Given the description of an element on the screen output the (x, y) to click on. 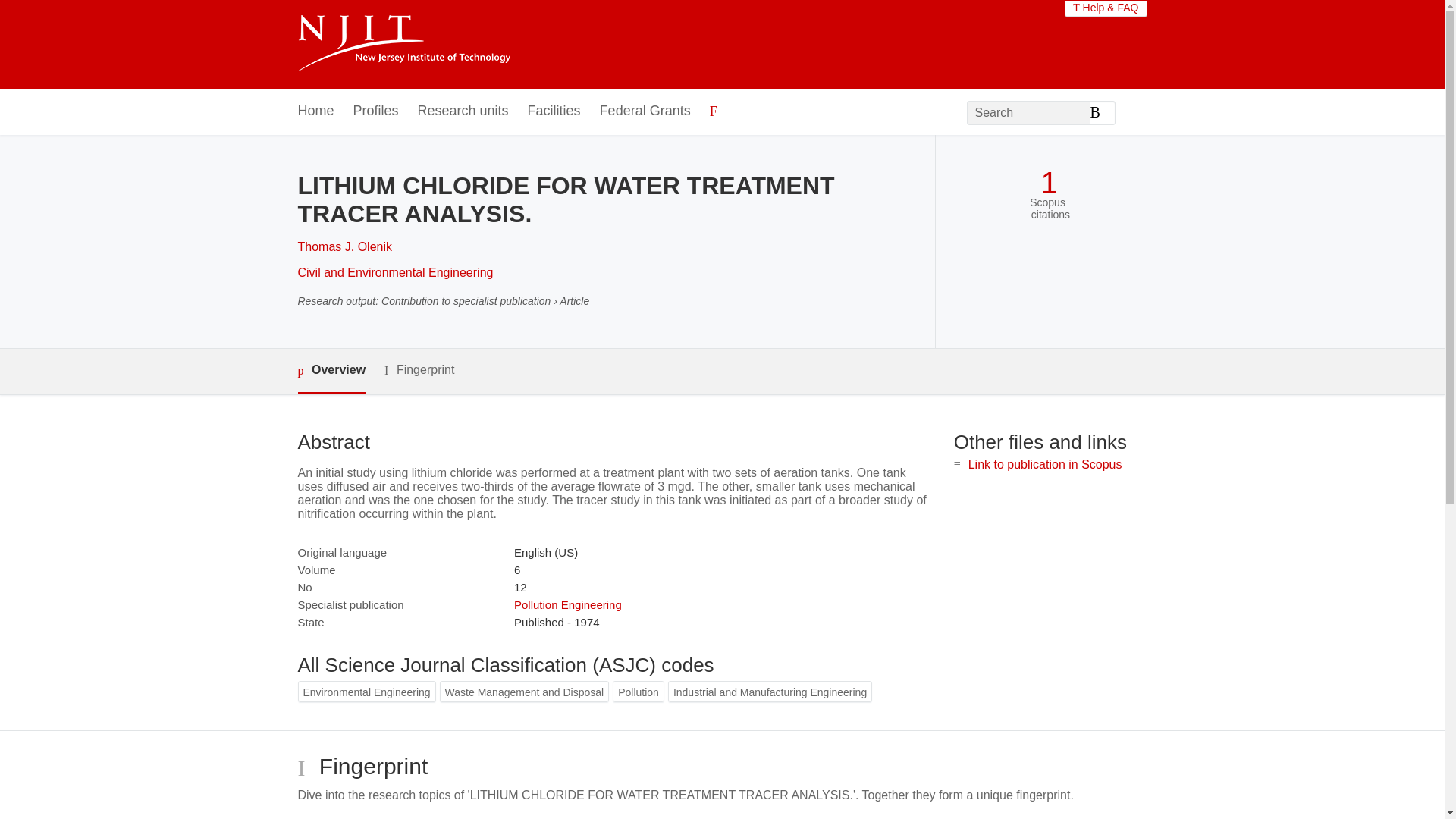
1 (1049, 182)
New Jersey Institute of Technology Home (403, 44)
Profiles (375, 111)
Federal Grants (644, 111)
Research units (462, 111)
Facilities (553, 111)
Home (315, 111)
Fingerprint (419, 370)
Civil and Environmental Engineering (395, 272)
Link to publication in Scopus (1045, 463)
Pollution Engineering (567, 604)
Overview (331, 370)
Thomas J. Olenik (344, 246)
